Given the description of an element on the screen output the (x, y) to click on. 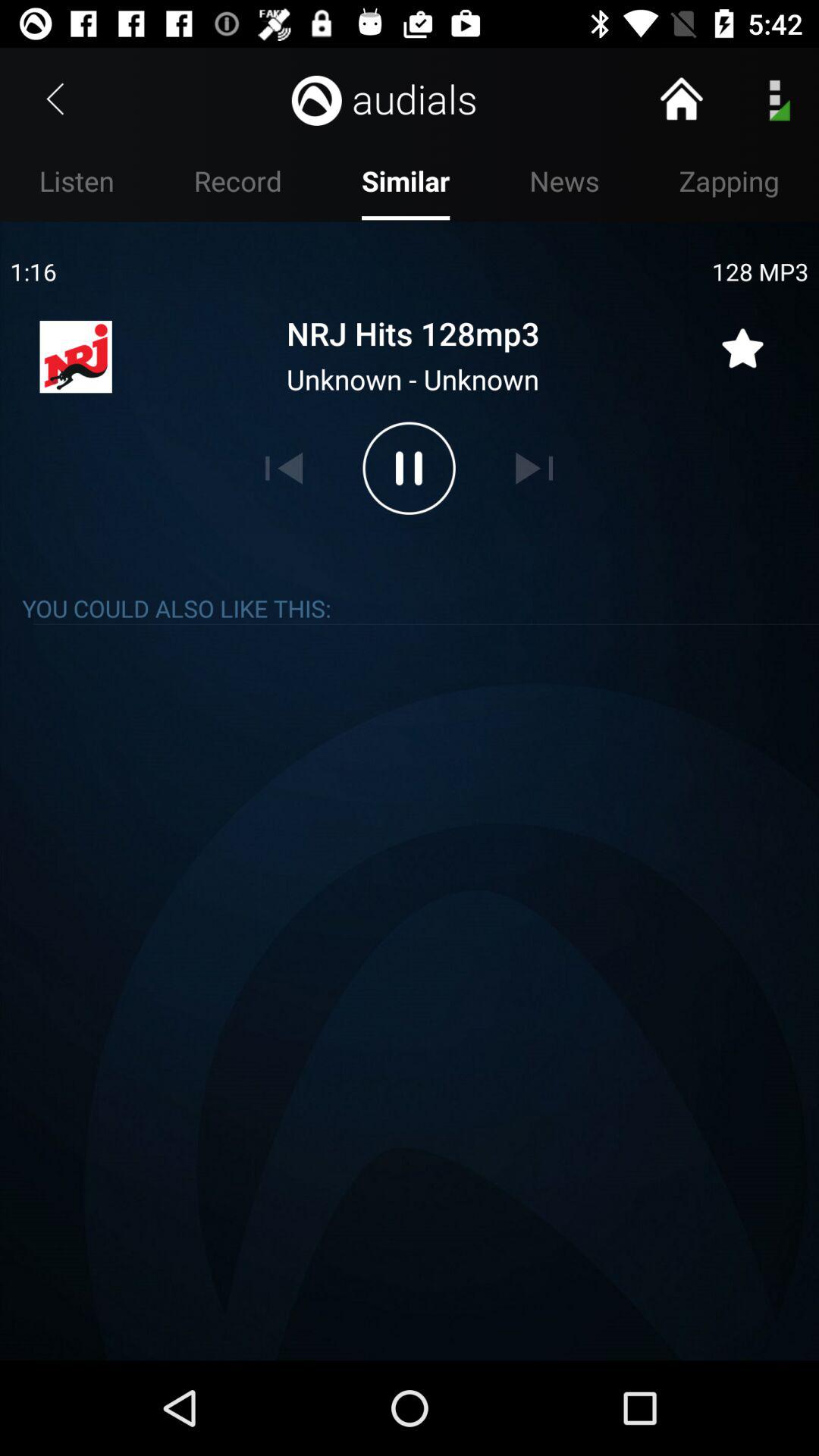
rewind (283, 468)
